Given the description of an element on the screen output the (x, y) to click on. 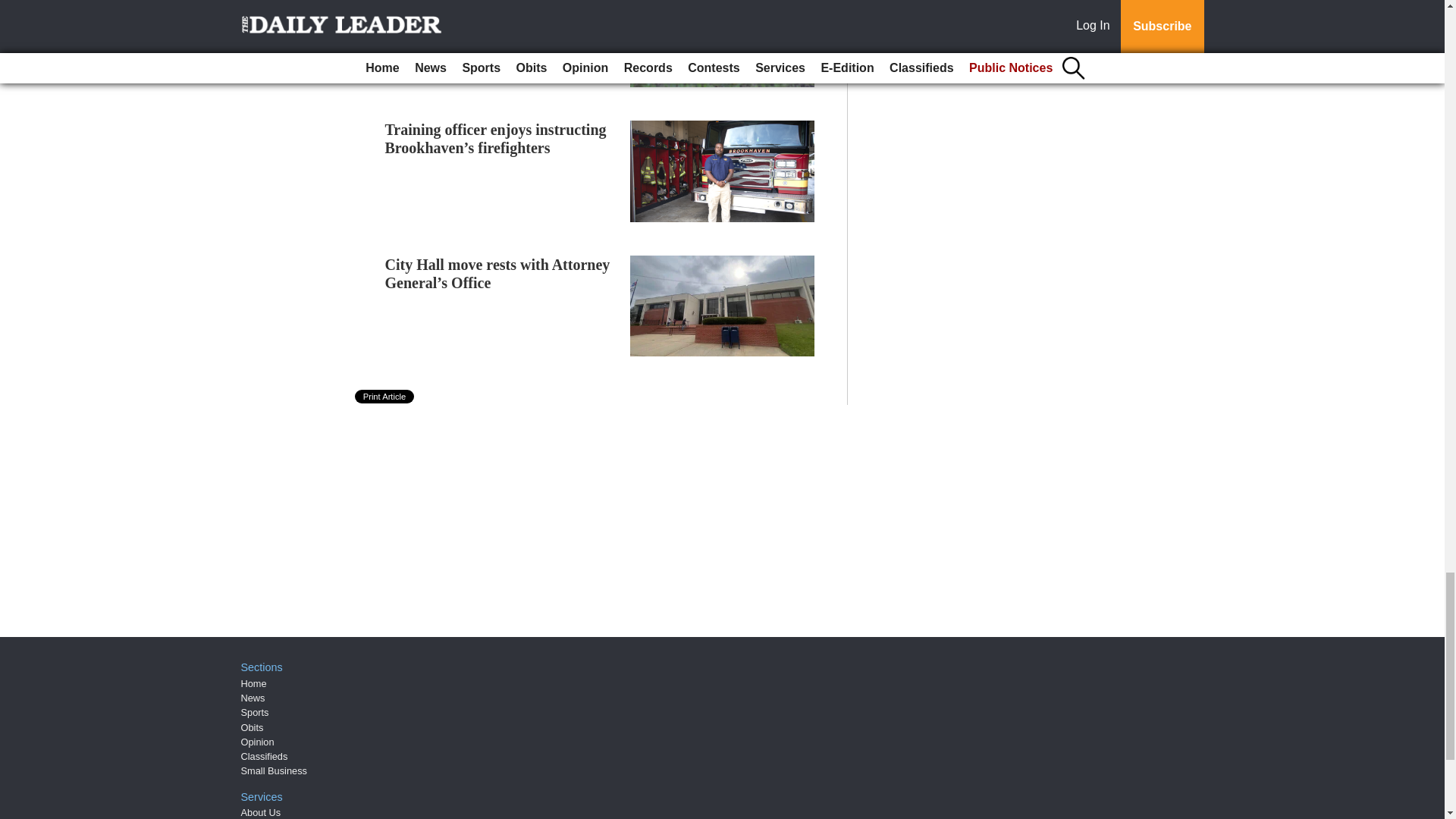
Guidelines to hunt doves legally this fall (501, 9)
Guidelines to hunt doves legally this fall (501, 9)
Print Article (384, 396)
